Given the description of an element on the screen output the (x, y) to click on. 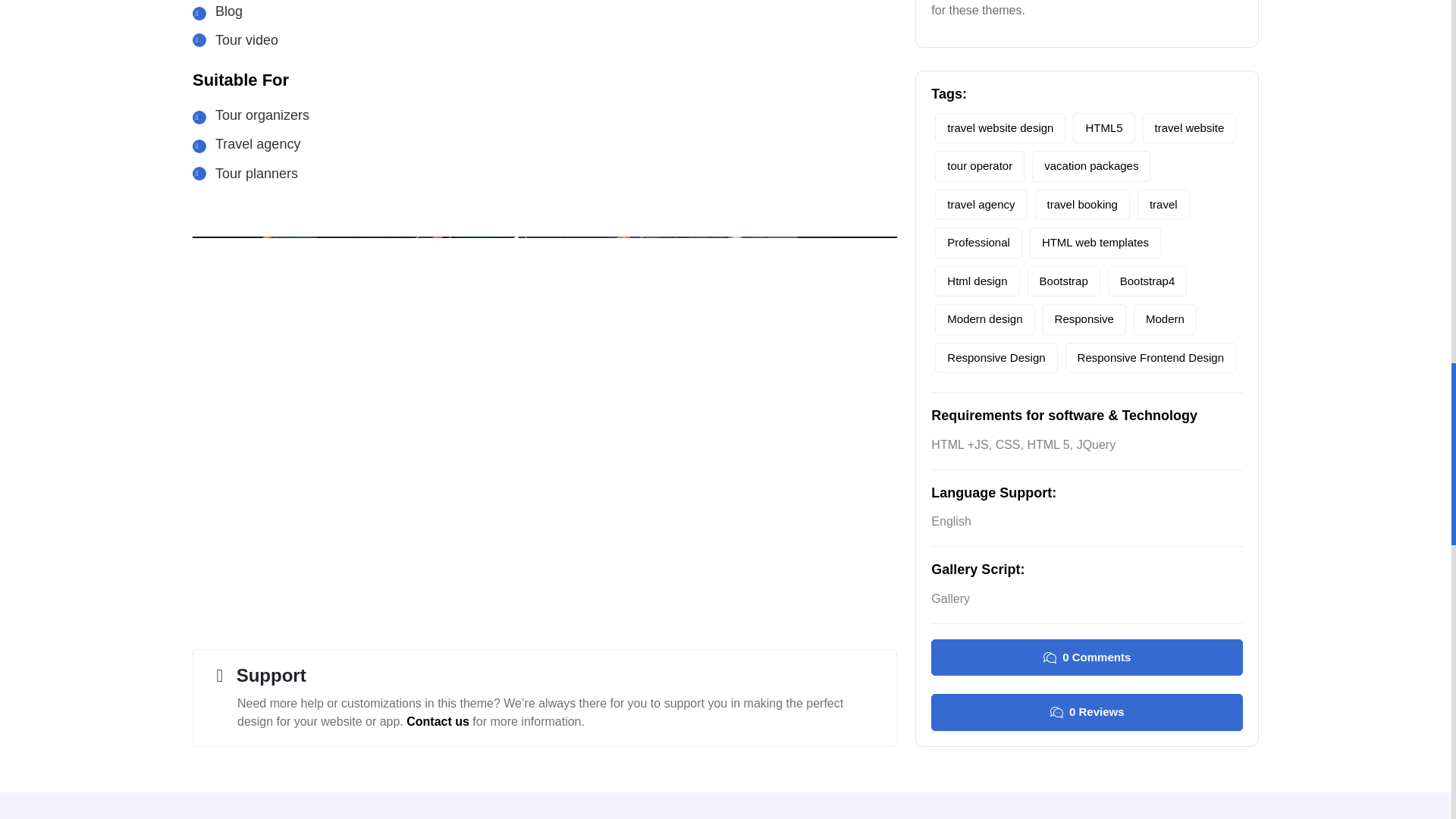
Contact us (437, 721)
